Given the description of an element on the screen output the (x, y) to click on. 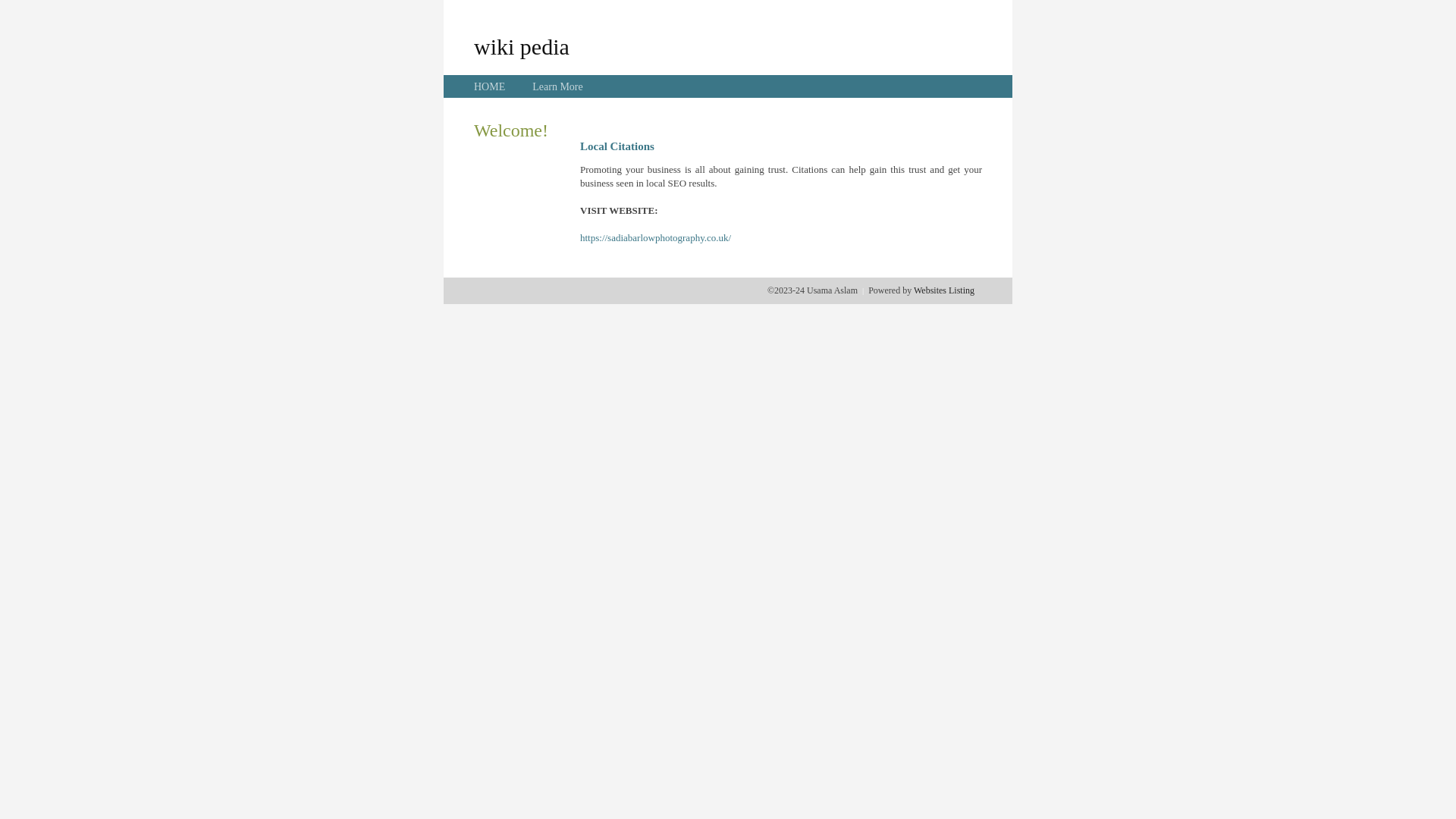
wiki pedia Element type: text (521, 46)
Learn More Element type: text (557, 86)
https://sadiabarlowphotography.co.uk/ Element type: text (655, 237)
Websites Listing Element type: text (943, 290)
HOME Element type: text (489, 86)
